Given the description of an element on the screen output the (x, y) to click on. 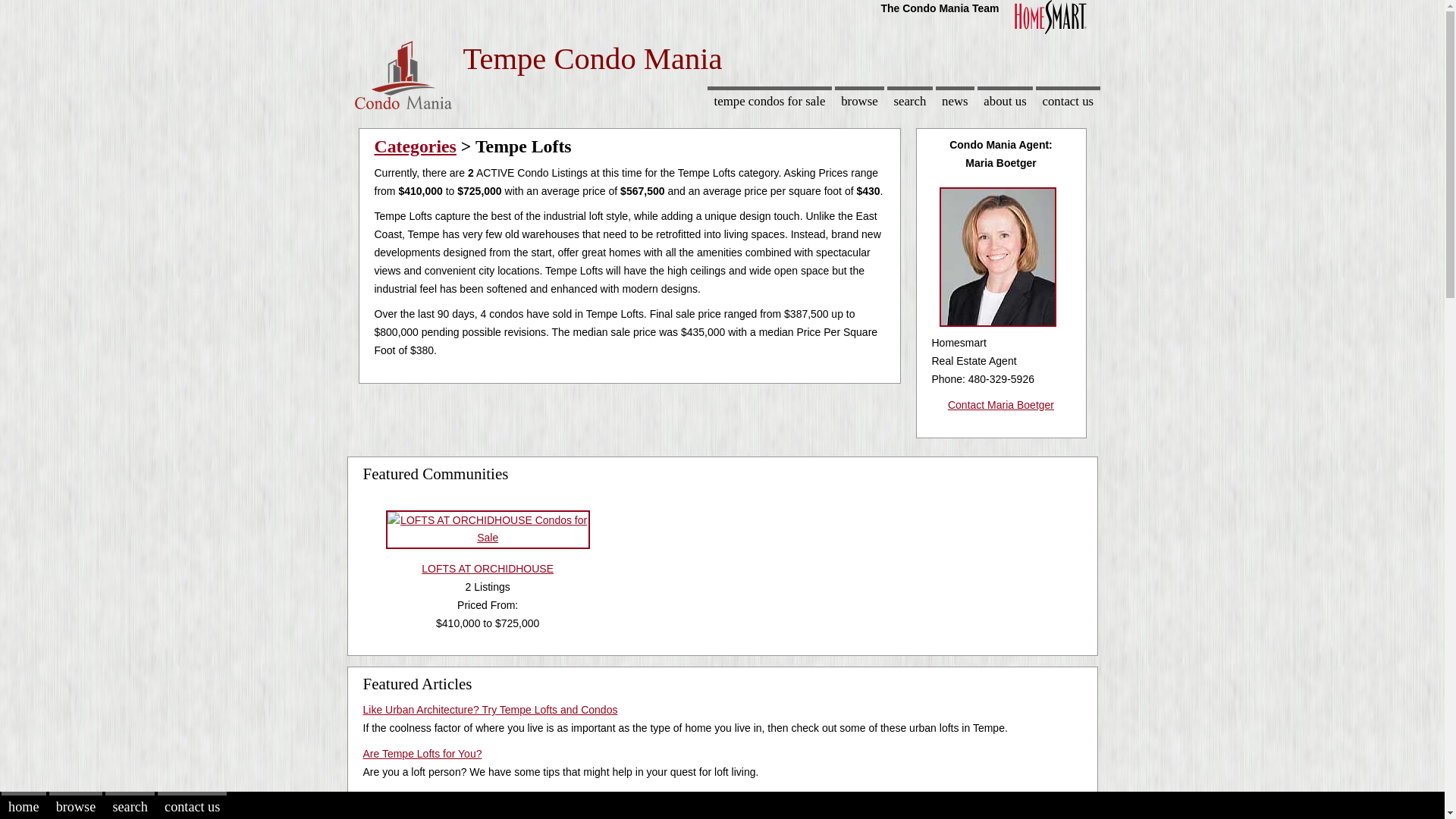
about us (1004, 99)
contact us (1067, 99)
tempe condos for sale (769, 99)
Contact Maria Boetger (1000, 404)
Browse Tempe Condos For Sale (858, 99)
Categories (415, 146)
Are Tempe Lofts for You? (421, 753)
Tempe Real Estate Agents (1004, 99)
Like Urban Architecture? Try Tempe Lofts and Condos (489, 709)
LOFTS AT ORCHIDHOUSE Condos for Sale (487, 548)
